Given the description of an element on the screen output the (x, y) to click on. 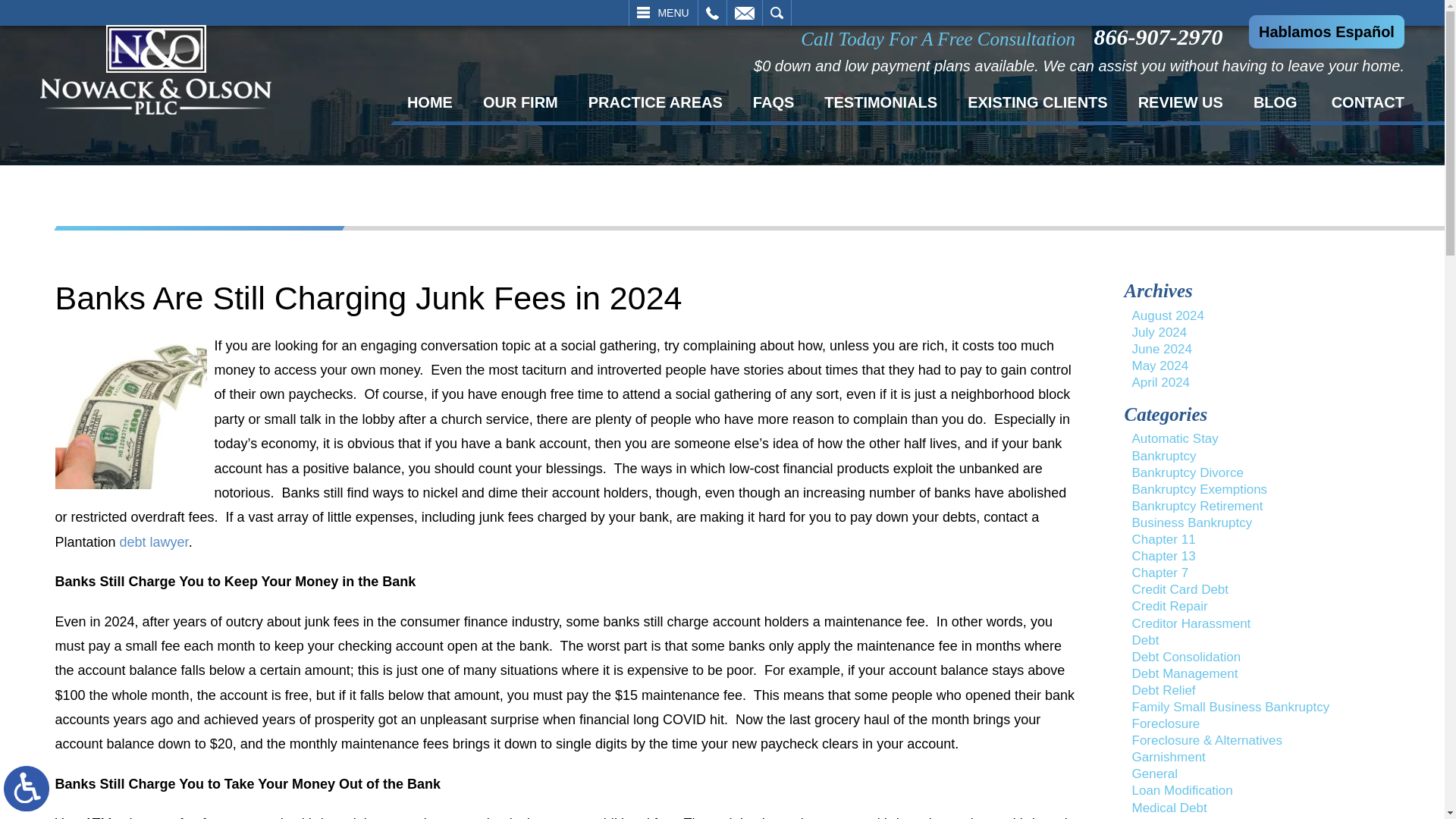
MENU (662, 12)
SEARCH (776, 12)
HOME (429, 101)
EMAIL (743, 12)
OUR FIRM (520, 101)
Florida Bankruptcy Lawyer (154, 69)
CashFlying (130, 412)
PRACTICE AREAS (655, 101)
866-907-2970 (1162, 36)
CALL (711, 12)
